Given the description of an element on the screen output the (x, y) to click on. 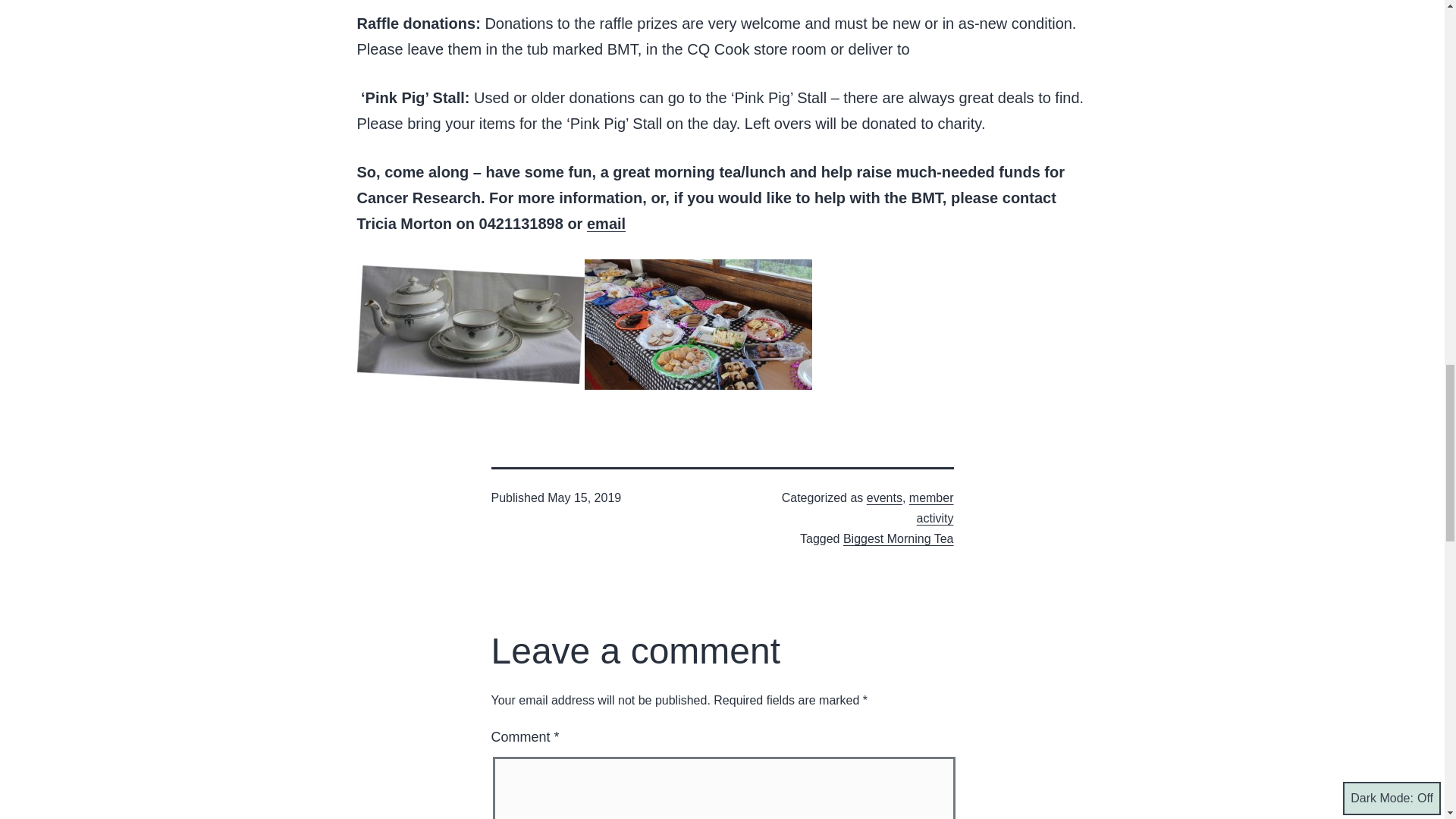
member activity (930, 507)
email (606, 223)
Biggest Morning Tea (898, 538)
events (884, 497)
